Given the description of an element on the screen output the (x, y) to click on. 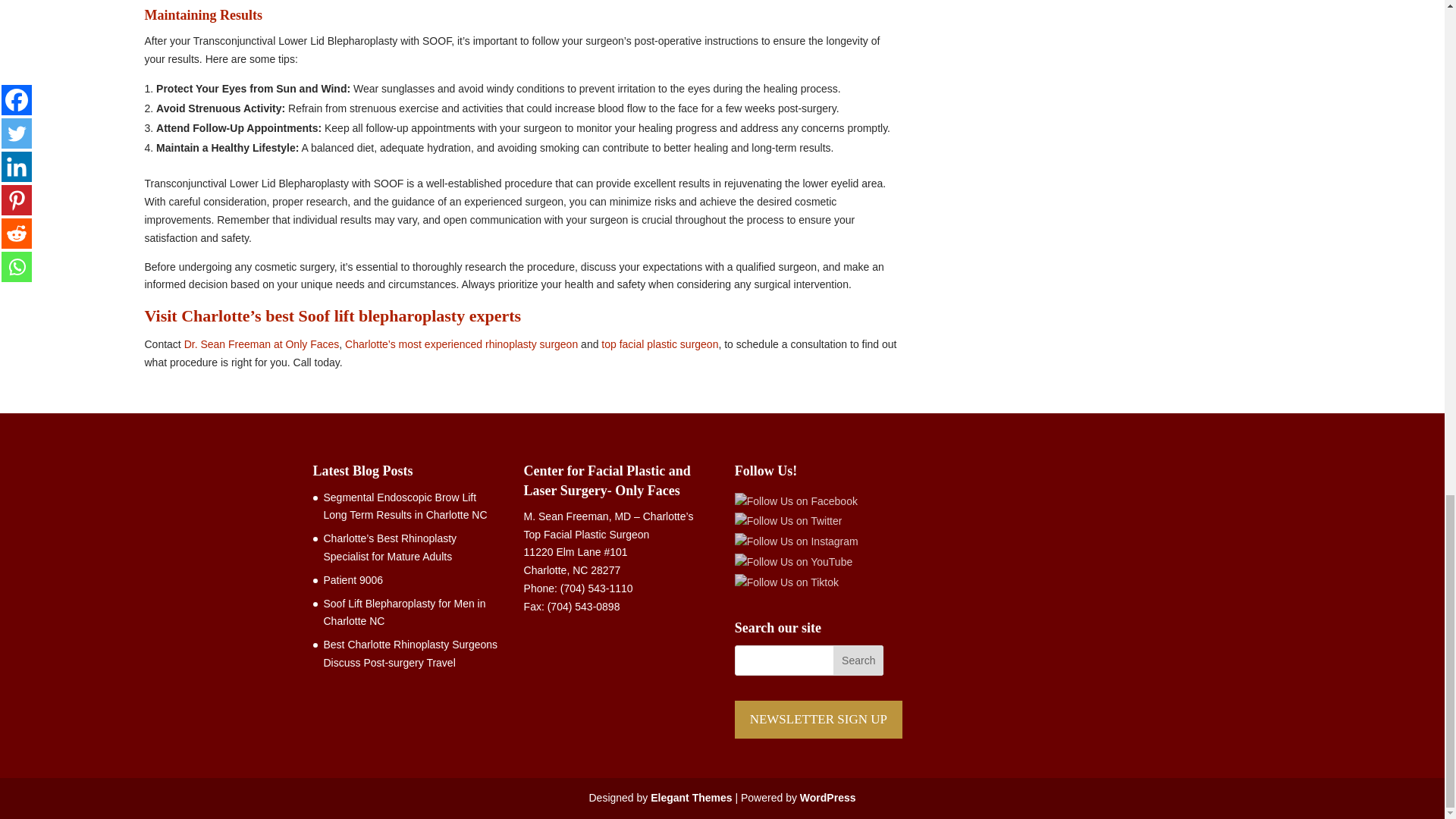
Search (857, 660)
Follow Us on Facebook (796, 502)
